Given the description of an element on the screen output the (x, y) to click on. 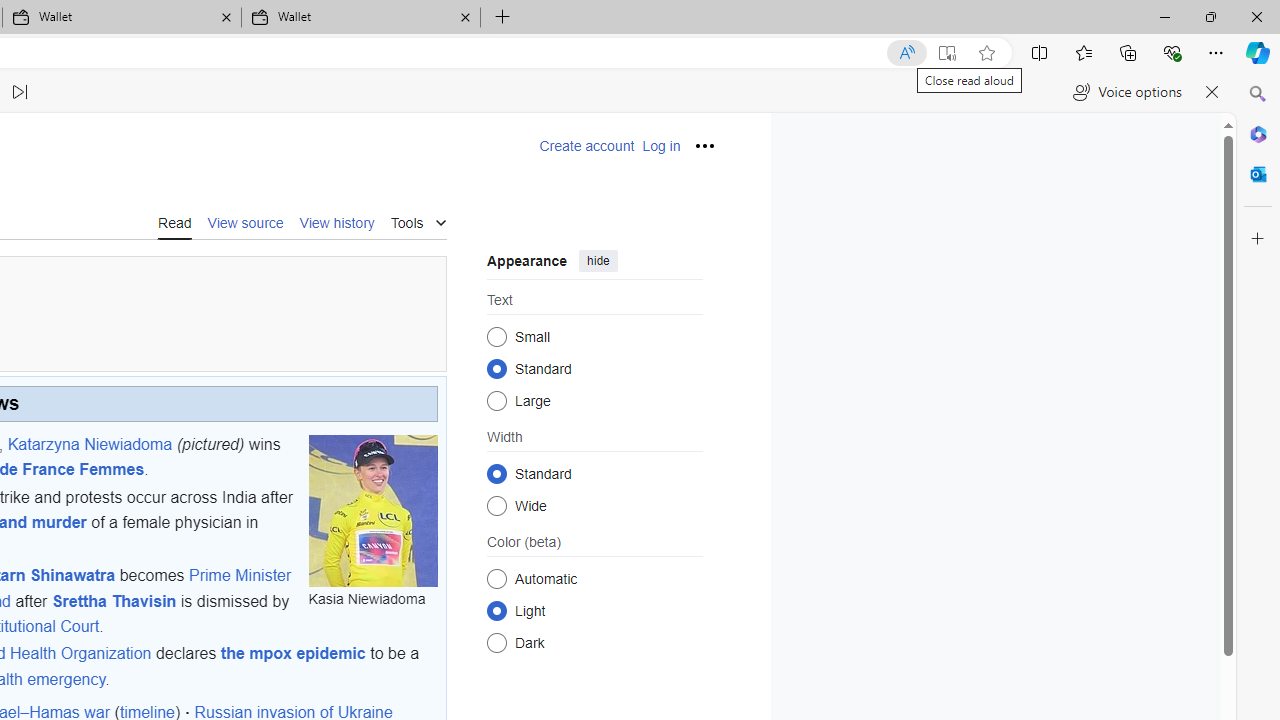
Create account (586, 146)
